Given the description of an element on the screen output the (x, y) to click on. 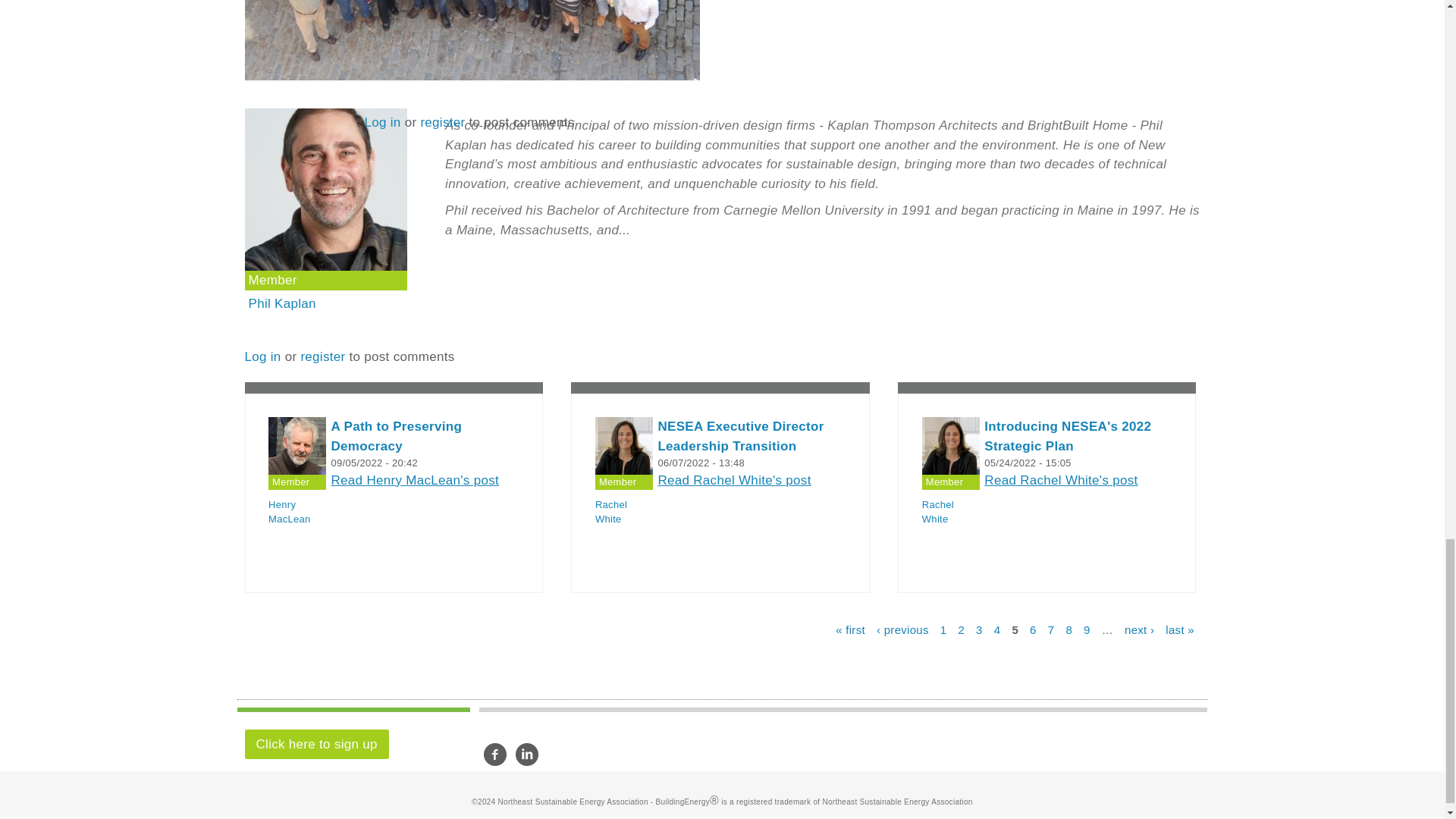
Go to next page (1139, 628)
Go to last page (1179, 628)
Go to previous page (902, 628)
Go to first page (849, 628)
